Given the description of an element on the screen output the (x, y) to click on. 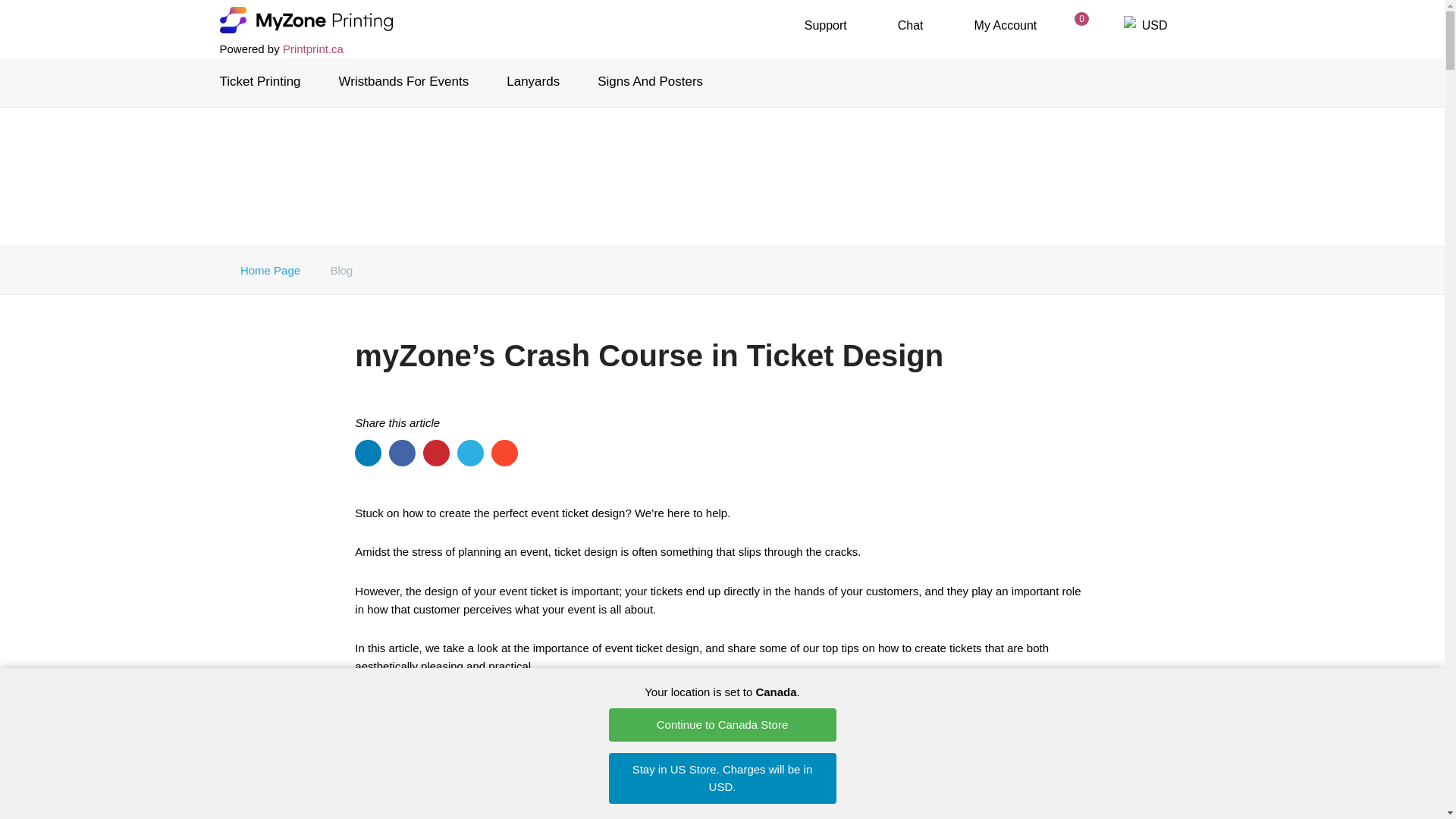
My Account (995, 25)
Support (814, 25)
Printprint.ca (312, 48)
Chat (900, 25)
0 (1079, 25)
